Given the description of an element on the screen output the (x, y) to click on. 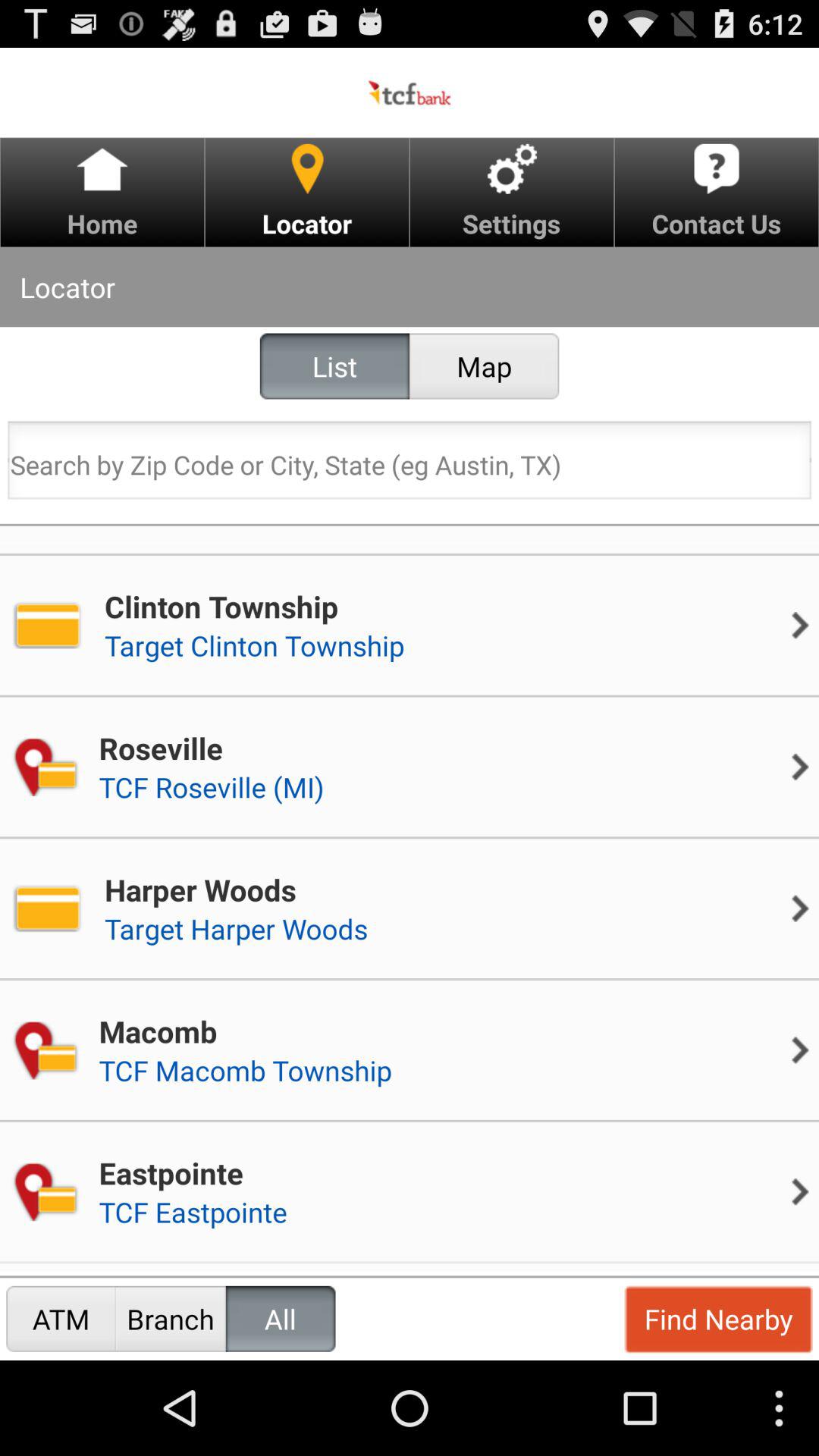
turn on radio button next to the map item (334, 366)
